Given the description of an element on the screen output the (x, y) to click on. 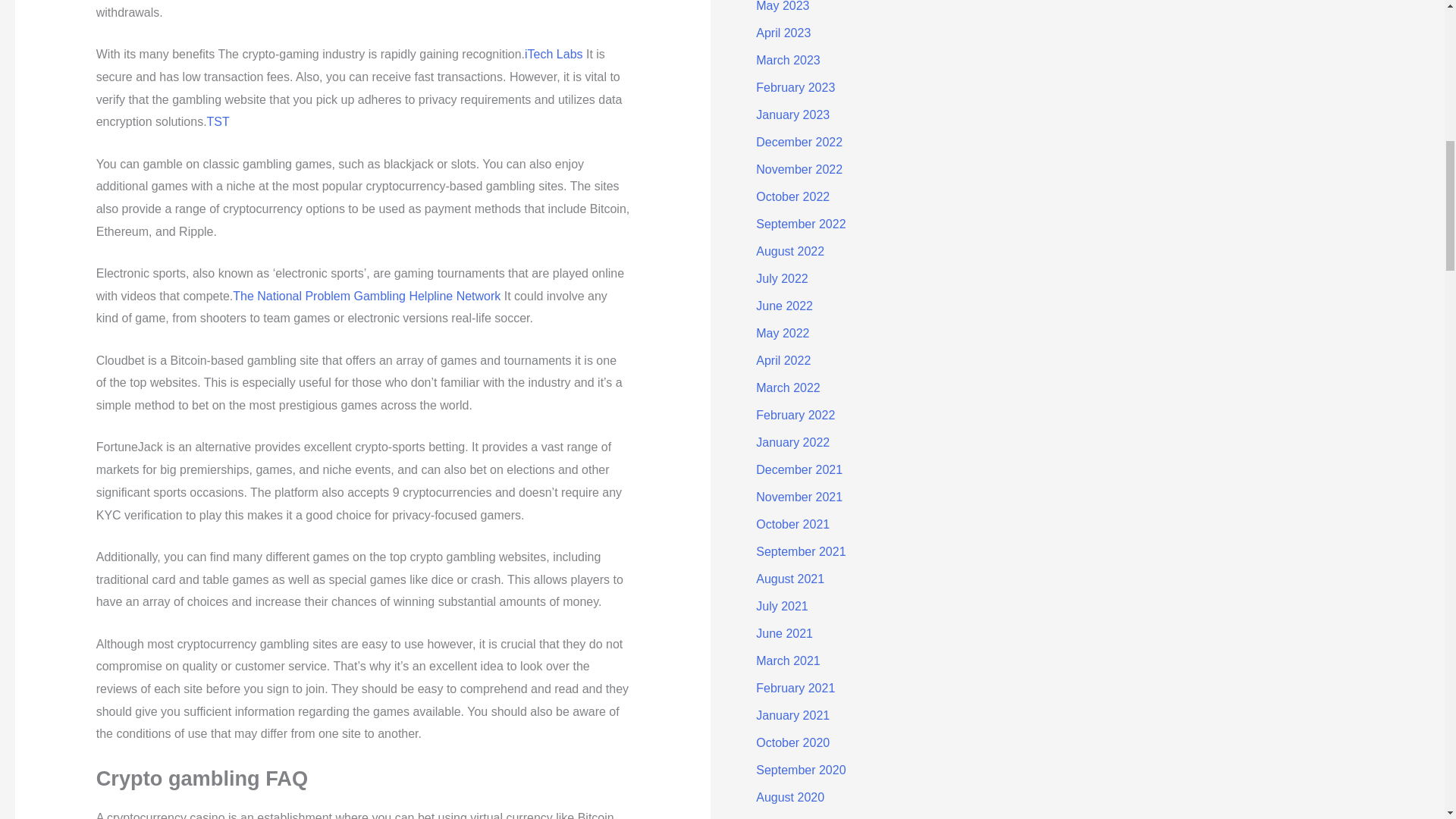
April 2023 (782, 32)
March 2023 (788, 60)
August 2022 (789, 250)
September 2022 (800, 223)
February 2023 (794, 87)
November 2022 (799, 169)
December 2022 (799, 141)
The National Problem Gambling Helpline Network (366, 295)
July 2022 (781, 278)
October 2022 (792, 196)
